Given the description of an element on the screen output the (x, y) to click on. 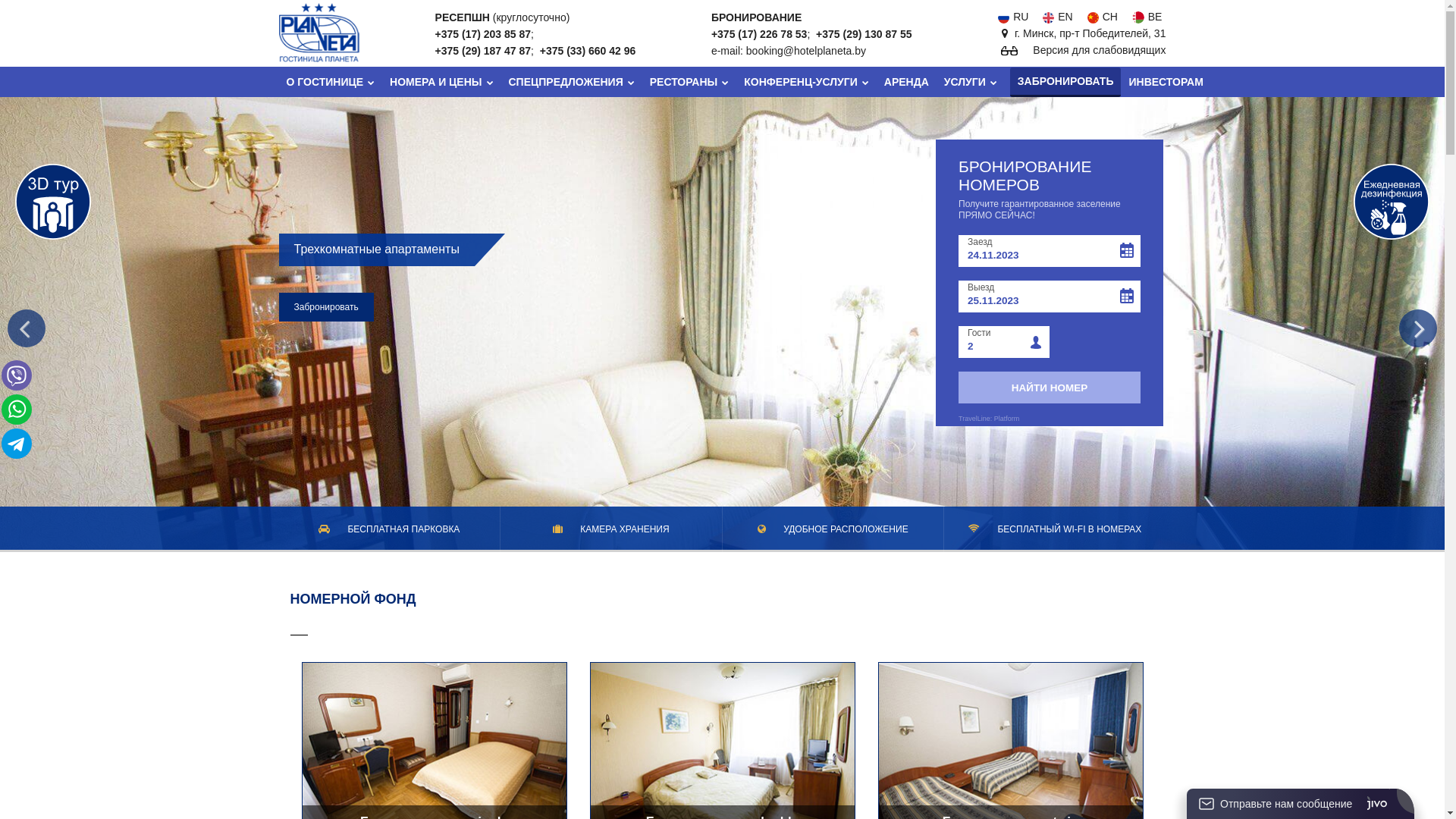
+375 (29) 187 47 87 Element type: text (483, 50)
RU Element type: text (1011, 16)
+375 (17) 203 85 87 Element type: text (483, 34)
BE Element type: text (1145, 16)
CH Element type: text (1100, 16)
telegram Element type: hover (16, 443)
+375 (29) 130 87 55 Element type: text (863, 34)
EN Element type: text (1055, 16)
WhatsApp Element type: hover (16, 409)
booking@hotelplaneta.by Element type: text (806, 50)
+375 (17) 226 78 53 Element type: text (759, 34)
Viber Element type: hover (16, 375)
+375 (33) 660 42 96 Element type: text (587, 50)
